Given the description of an element on the screen output the (x, y) to click on. 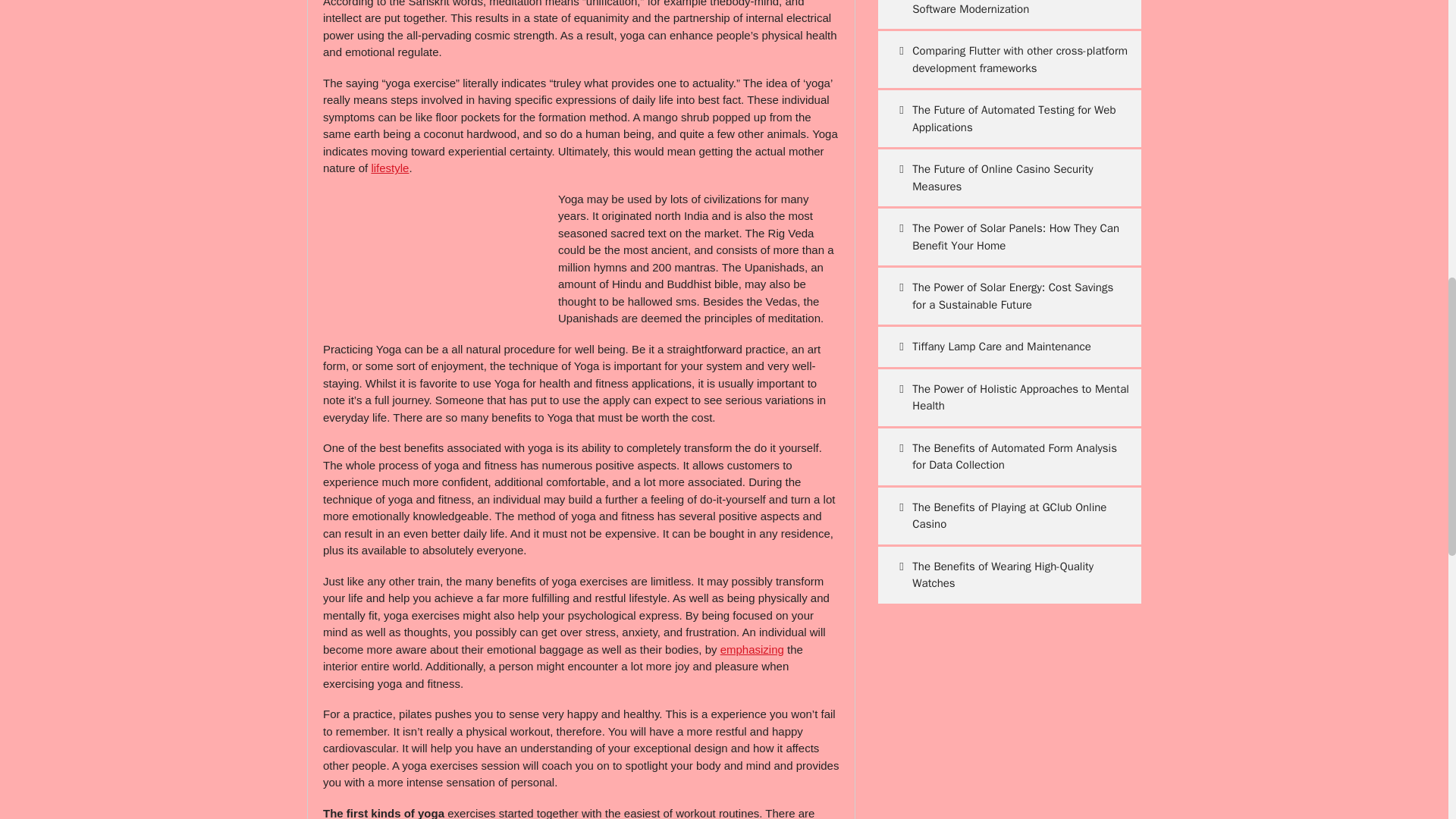
The Benefits of Automated Form Analysis for Data Collection (1009, 456)
emphasizing (752, 649)
lifestyle (390, 167)
Tiffany Lamp Care and Maintenance (1009, 346)
The Power of Holistic Approaches to Mental Health (1009, 397)
The Power of Solar Panels: How They Can Benefit Your Home (1009, 236)
The Future of Online Casino Security Measures (1009, 177)
